Given the description of an element on the screen output the (x, y) to click on. 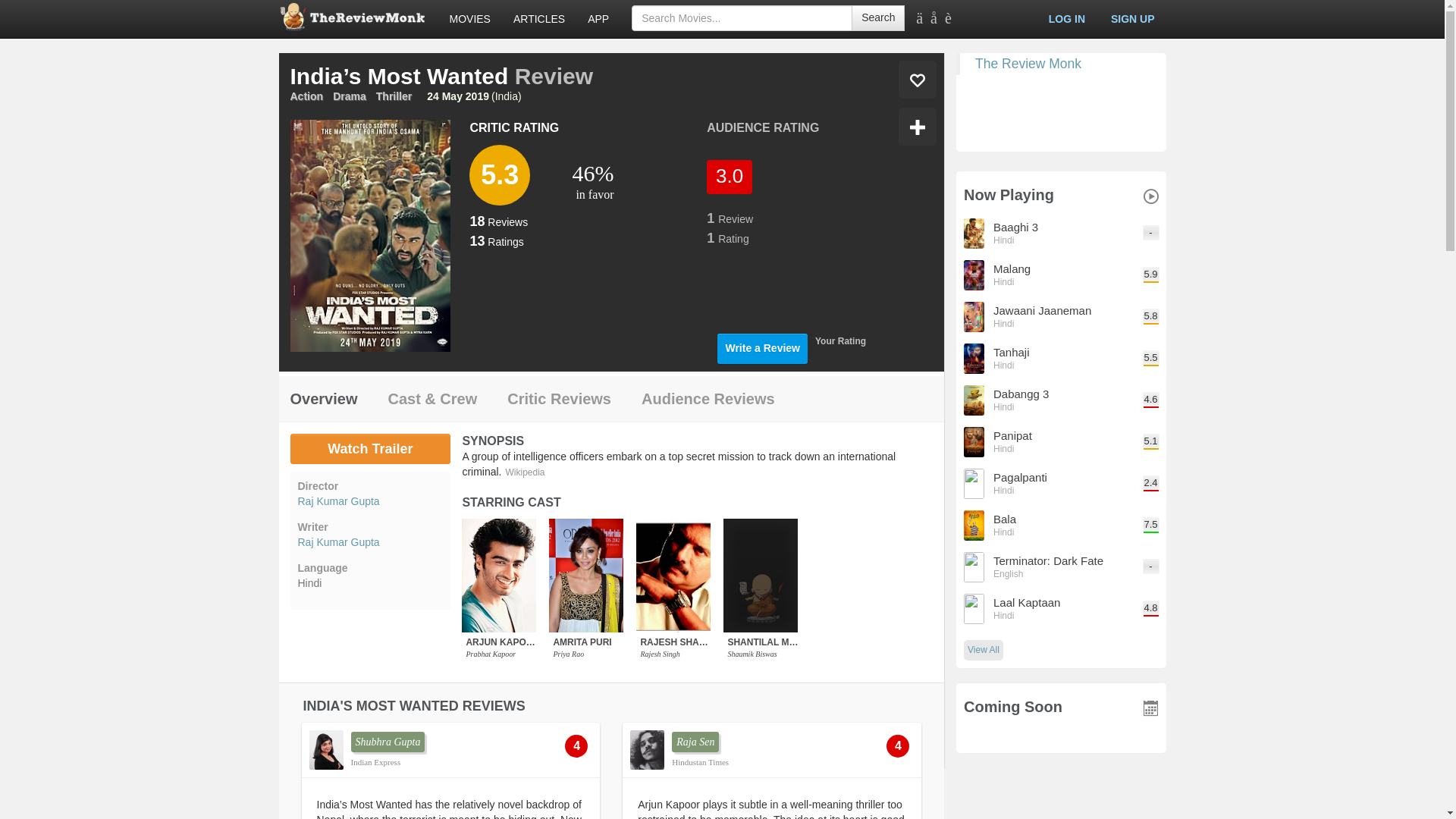
13 (476, 240)
18 (476, 221)
Action (306, 96)
India's Most Wanted (369, 449)
MOVIES (470, 18)
LOG IN (1066, 18)
Raj Kumar Gupta (369, 500)
Drama (349, 96)
Search for: (741, 17)
Thriller (393, 96)
APP (598, 18)
Raj Kumar Gupta (369, 541)
Search (877, 17)
Write a Review (762, 348)
ARTICLES (539, 18)
